Given the description of an element on the screen output the (x, y) to click on. 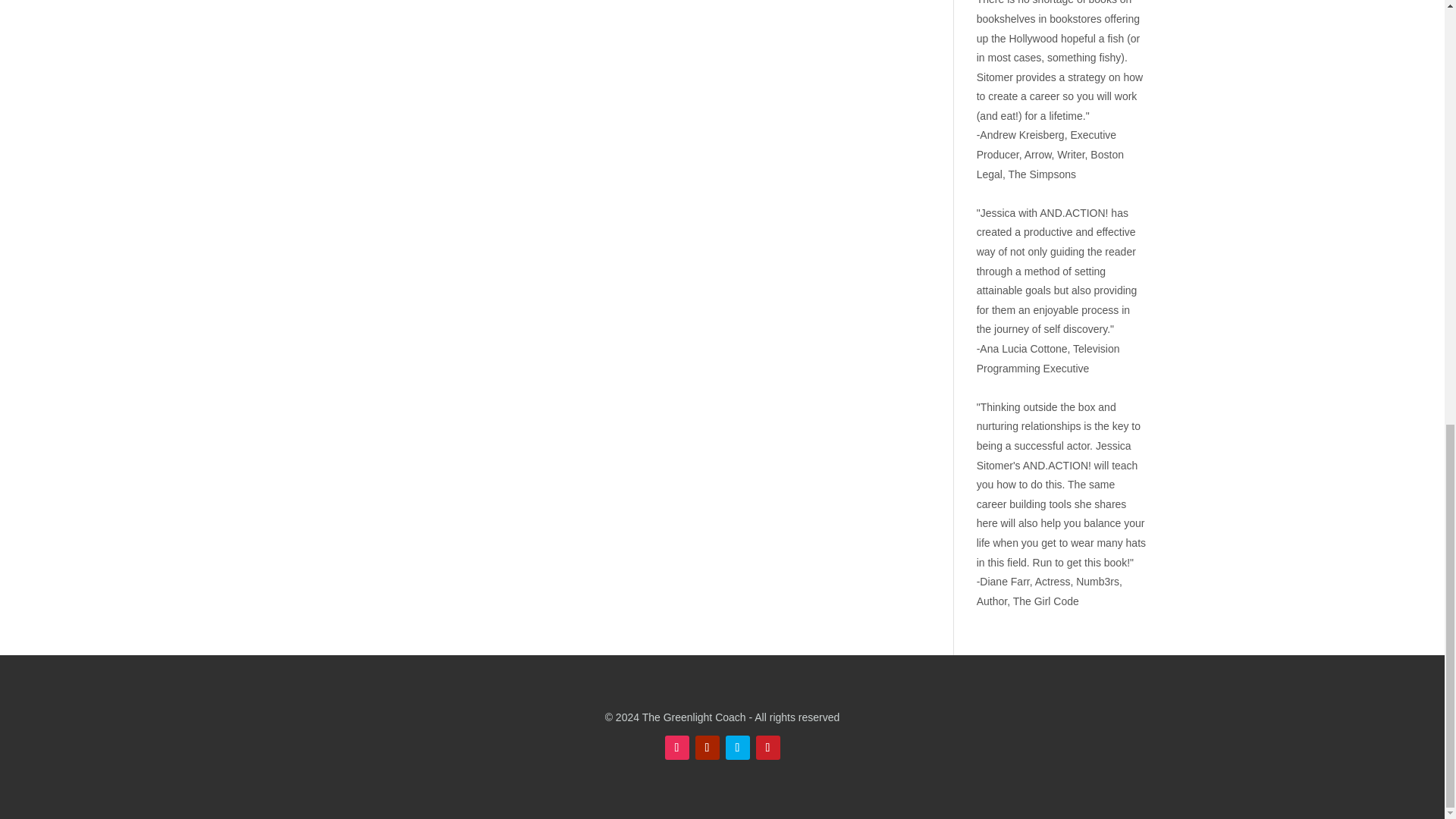
Follow on Pinterest (766, 747)
Follow on Twitter (737, 747)
Follow on Youtube (706, 747)
Follow on Instagram (675, 747)
